Given the description of an element on the screen output the (x, y) to click on. 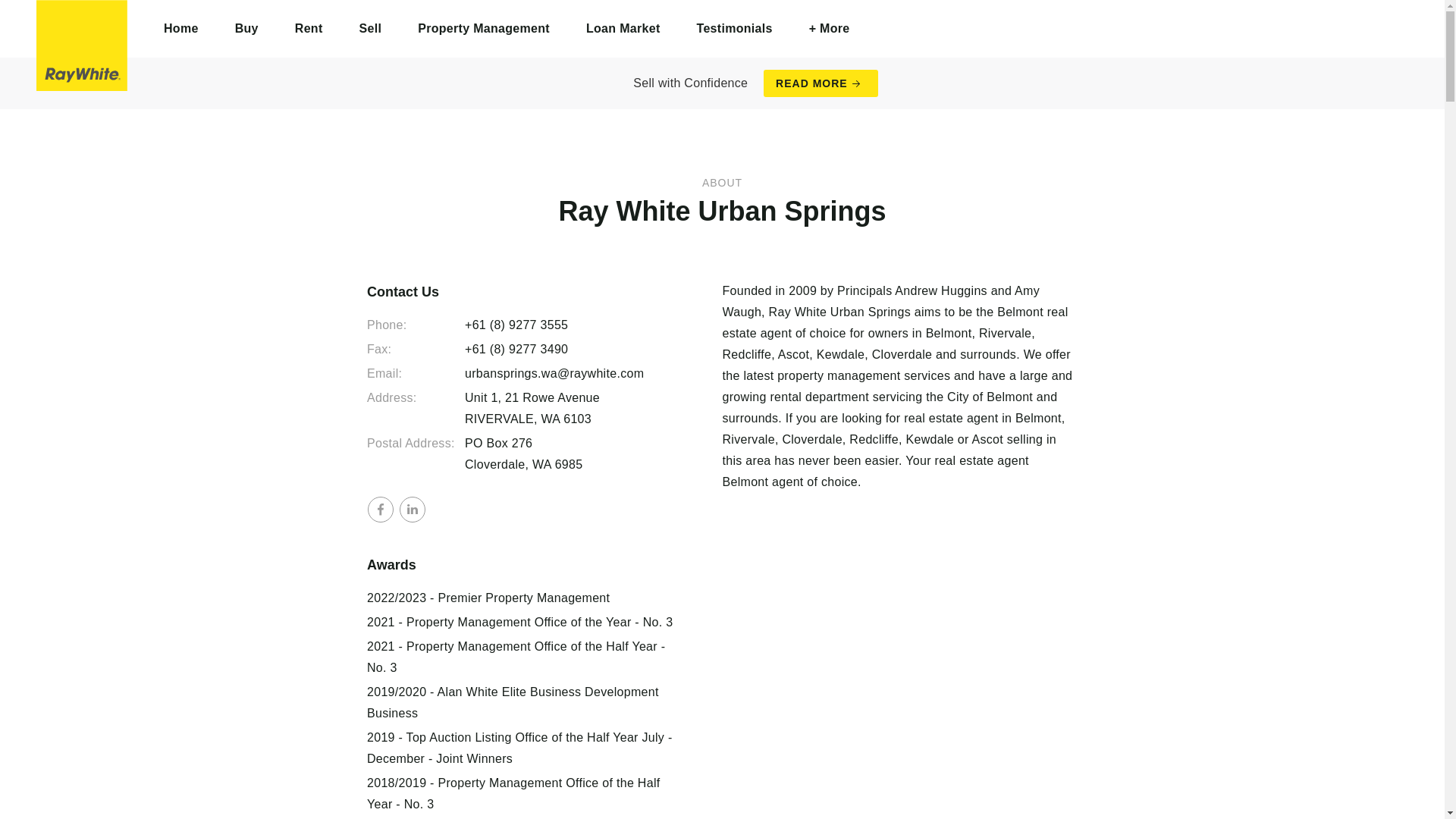
READ MORE (819, 83)
LinkedIn (411, 509)
Home (180, 28)
Testimonials (734, 28)
Ray White Urban Springs (82, 45)
Contact Us (520, 292)
Loan Market (622, 28)
Facebook (380, 509)
